Given the description of an element on the screen output the (x, y) to click on. 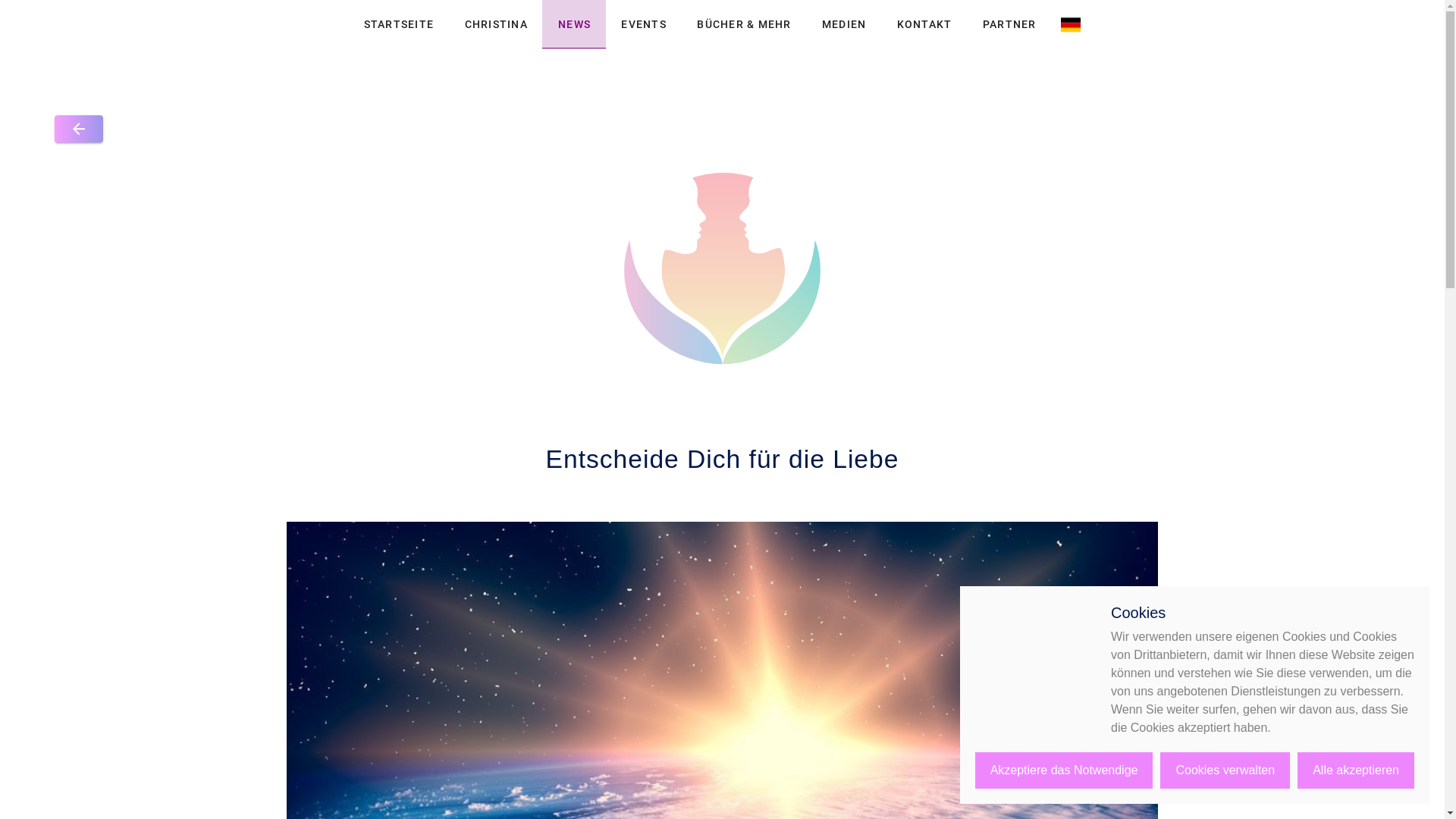
PARTNER Element type: text (1008, 24)
STARTSEITE Element type: text (398, 24)
NEWS Element type: text (573, 24)
CHRISTINA Element type: text (495, 24)
EVENTS Element type: text (643, 24)
Akzeptiere das Notwendige Element type: text (1064, 770)
KONTAKT Element type: text (923, 24)
Alle akzeptieren Element type: text (1355, 770)
Cookies verwalten Element type: text (1224, 770)
arrow_back Element type: text (78, 128)
MEDIEN Element type: text (843, 24)
